Given the description of an element on the screen output the (x, y) to click on. 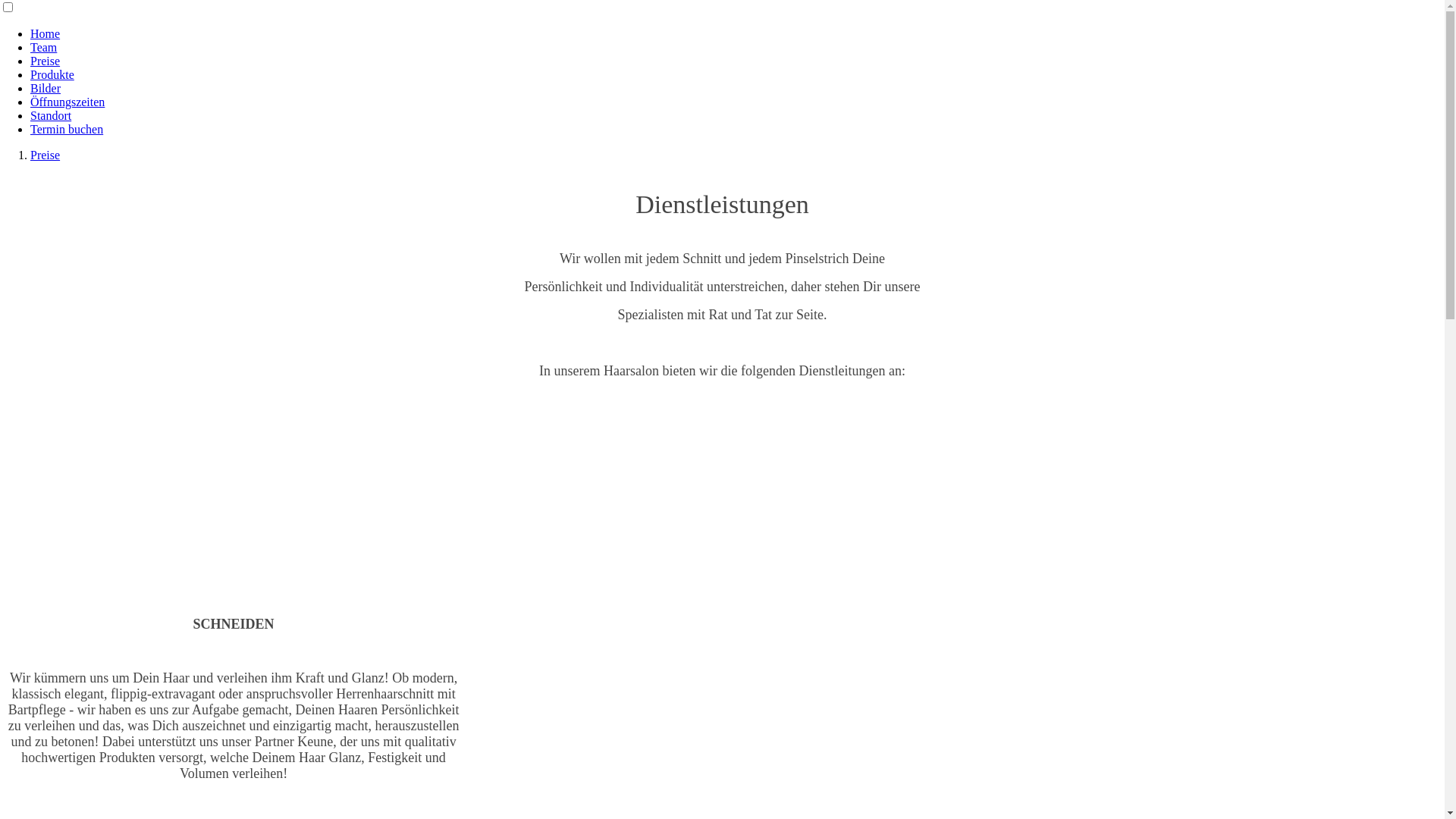
Preise Element type: text (44, 60)
Bilder Element type: text (45, 87)
Standort Element type: text (50, 115)
Termin buchen Element type: text (66, 128)
Produkte Element type: text (52, 74)
Home Element type: text (44, 33)
Preise Element type: text (44, 154)
Team Element type: text (43, 46)
